Given the description of an element on the screen output the (x, y) to click on. 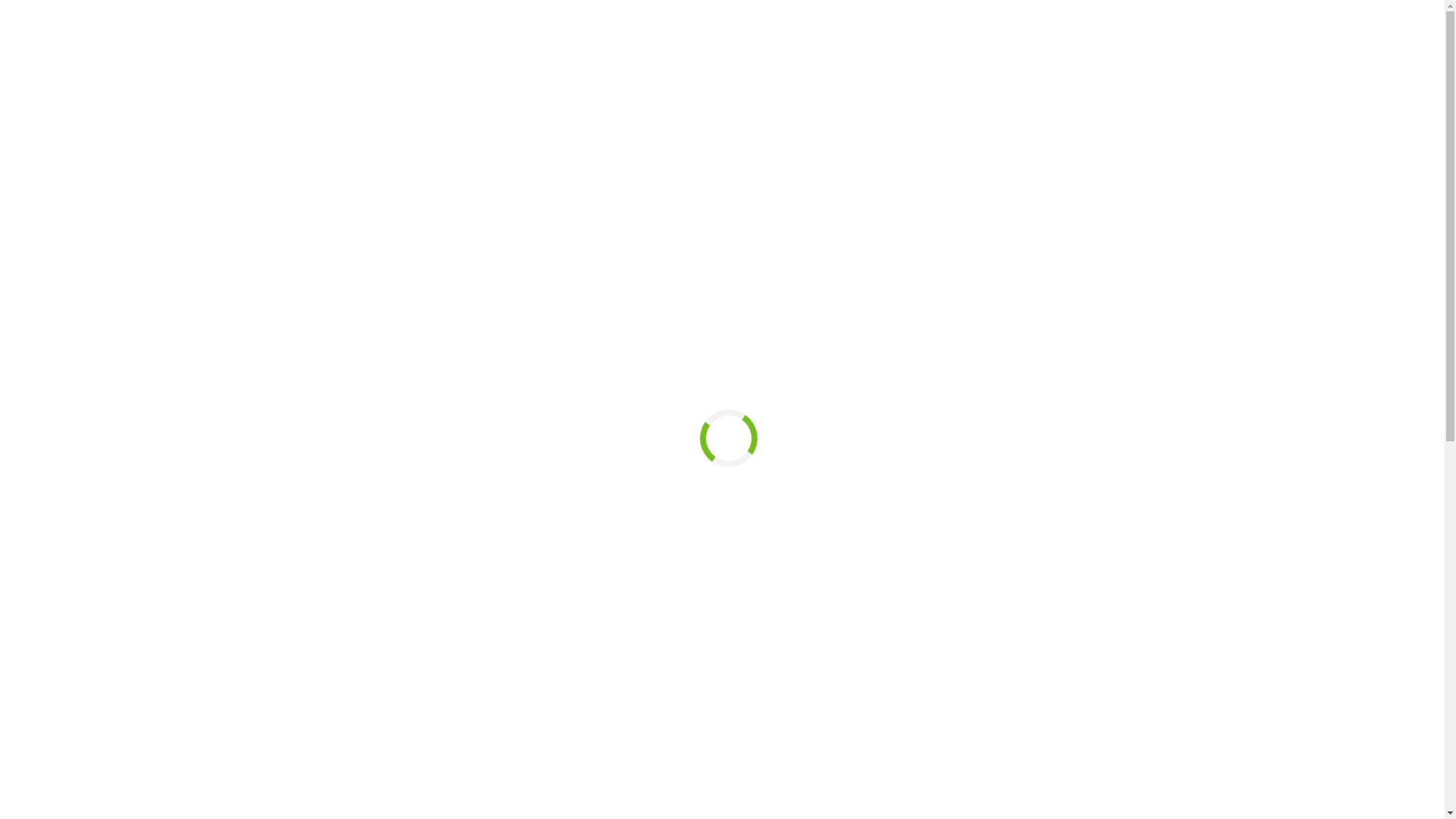
Contact Element type: text (55, 171)
About Element type: text (51, 130)
1300 795 974 Element type: text (39, 197)
Kitchens Element type: text (57, 157)
Bathrooms Element type: text (62, 144)
